Given the description of an element on the screen output the (x, y) to click on. 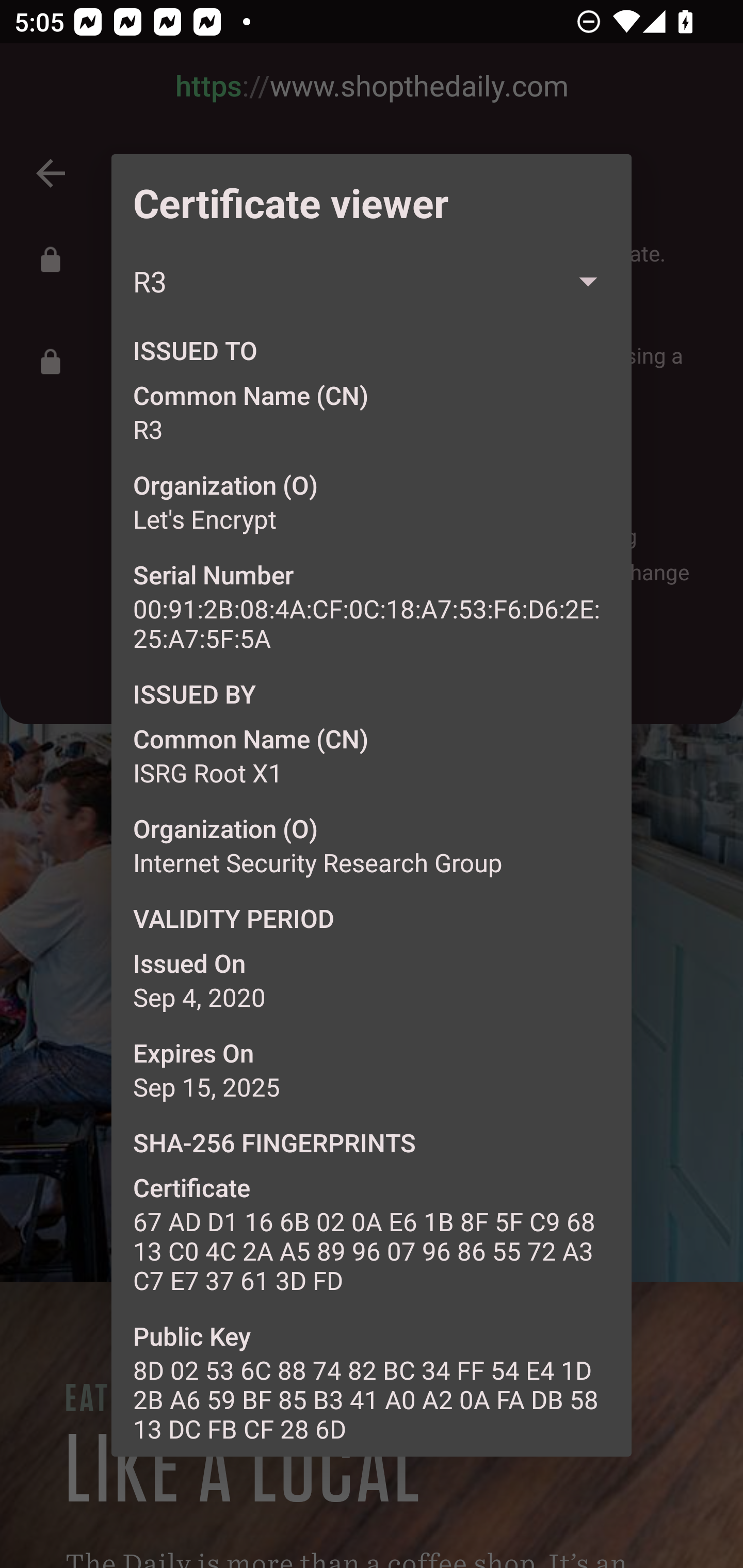
R3 (371, 281)
